Given the description of an element on the screen output the (x, y) to click on. 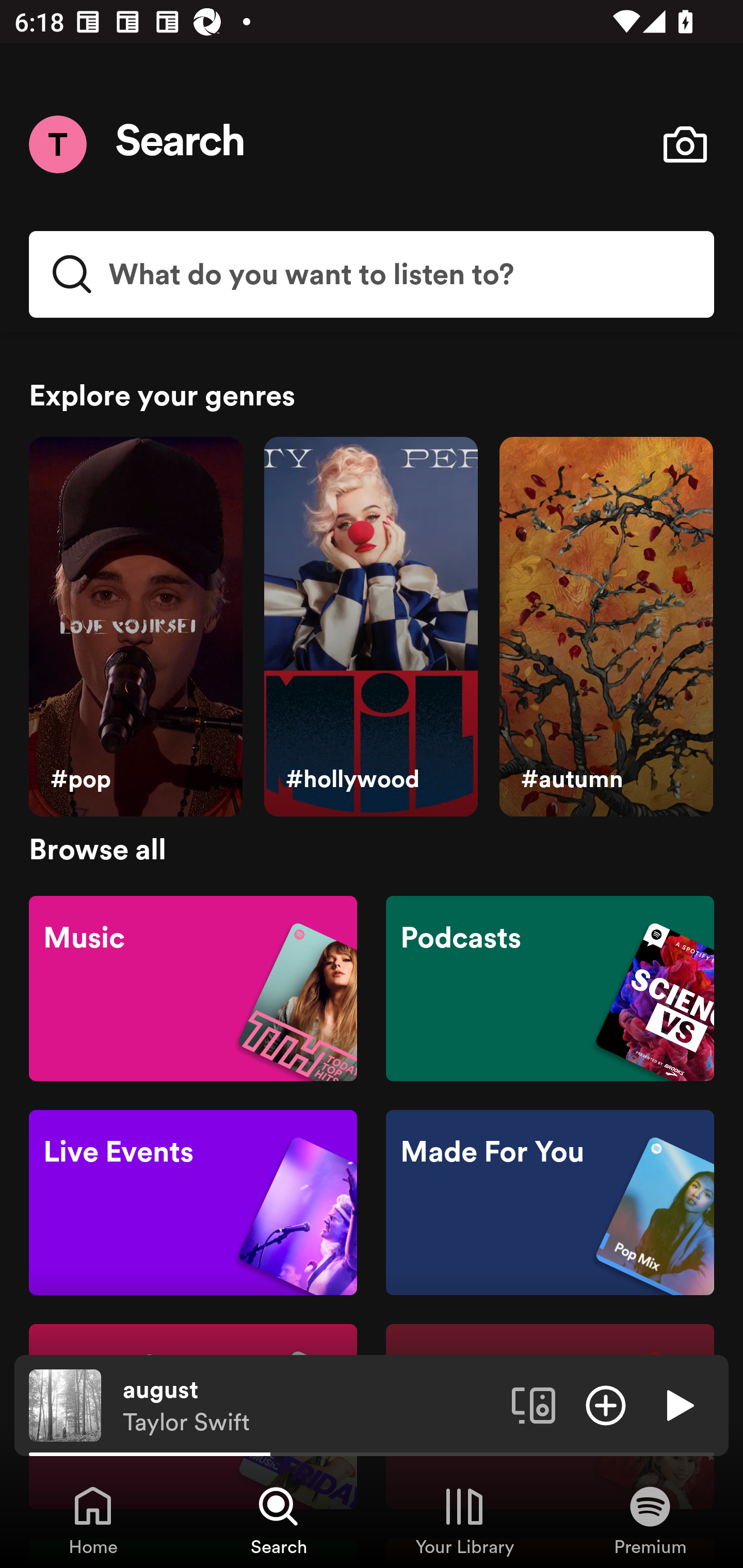
Menu (57, 144)
Open camera (685, 145)
Search (180, 144)
#pop (135, 626)
#hollywood (370, 626)
#autumn (606, 626)
Music (192, 987)
Podcasts (549, 987)
Live Events (192, 1202)
Made For You (549, 1202)
august Taylor Swift (309, 1405)
The cover art of the currently playing track (64, 1404)
Connect to a device. Opens the devices menu (533, 1404)
Add item (605, 1404)
Play (677, 1404)
Home, Tab 1 of 4 Home Home (92, 1519)
Search, Tab 2 of 4 Search Search (278, 1519)
Your Library, Tab 3 of 4 Your Library Your Library (464, 1519)
Premium, Tab 4 of 4 Premium Premium (650, 1519)
